Given the description of an element on the screen output the (x, y) to click on. 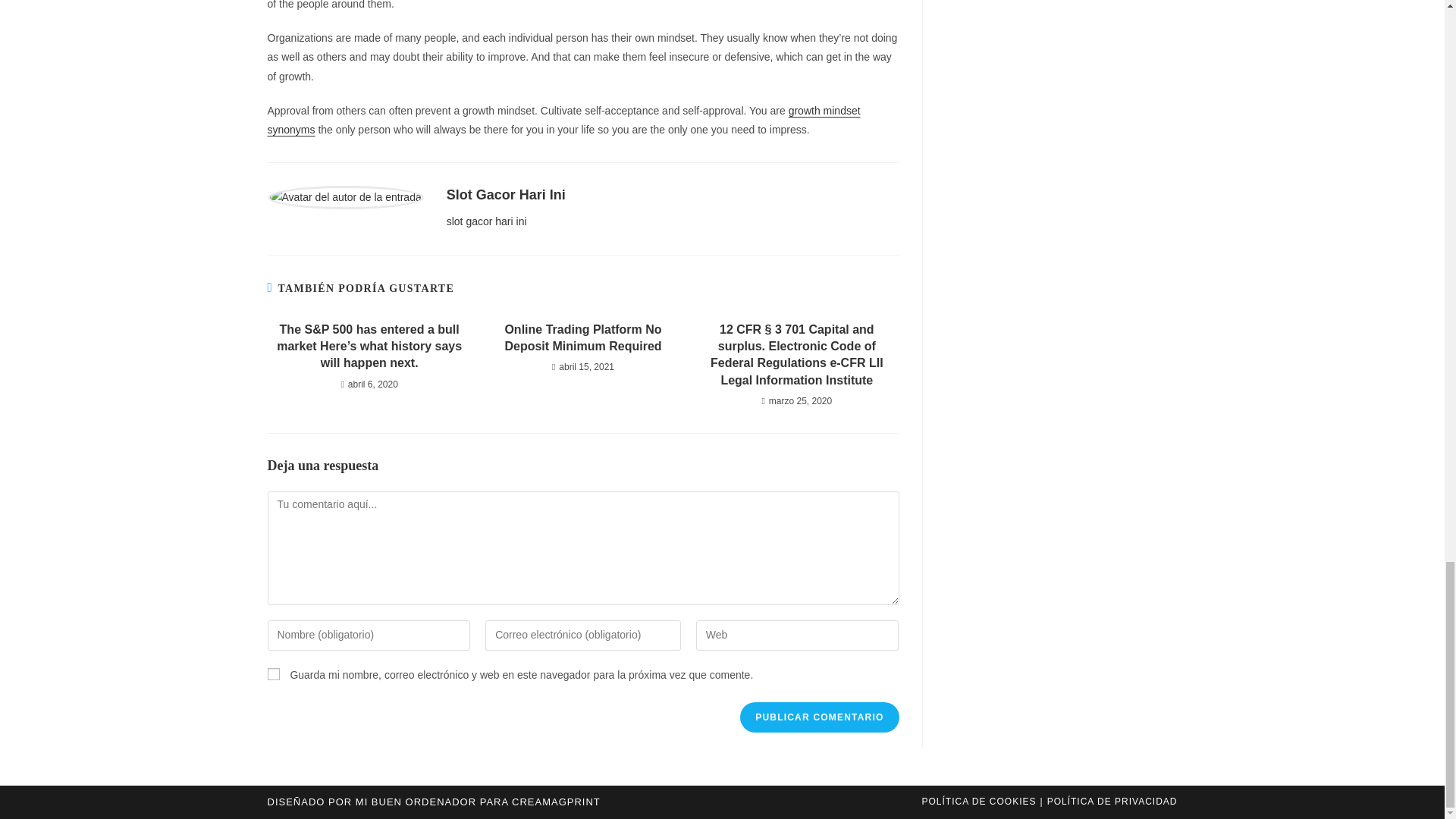
yes (272, 674)
Publicar comentario (818, 716)
